Given the description of an element on the screen output the (x, y) to click on. 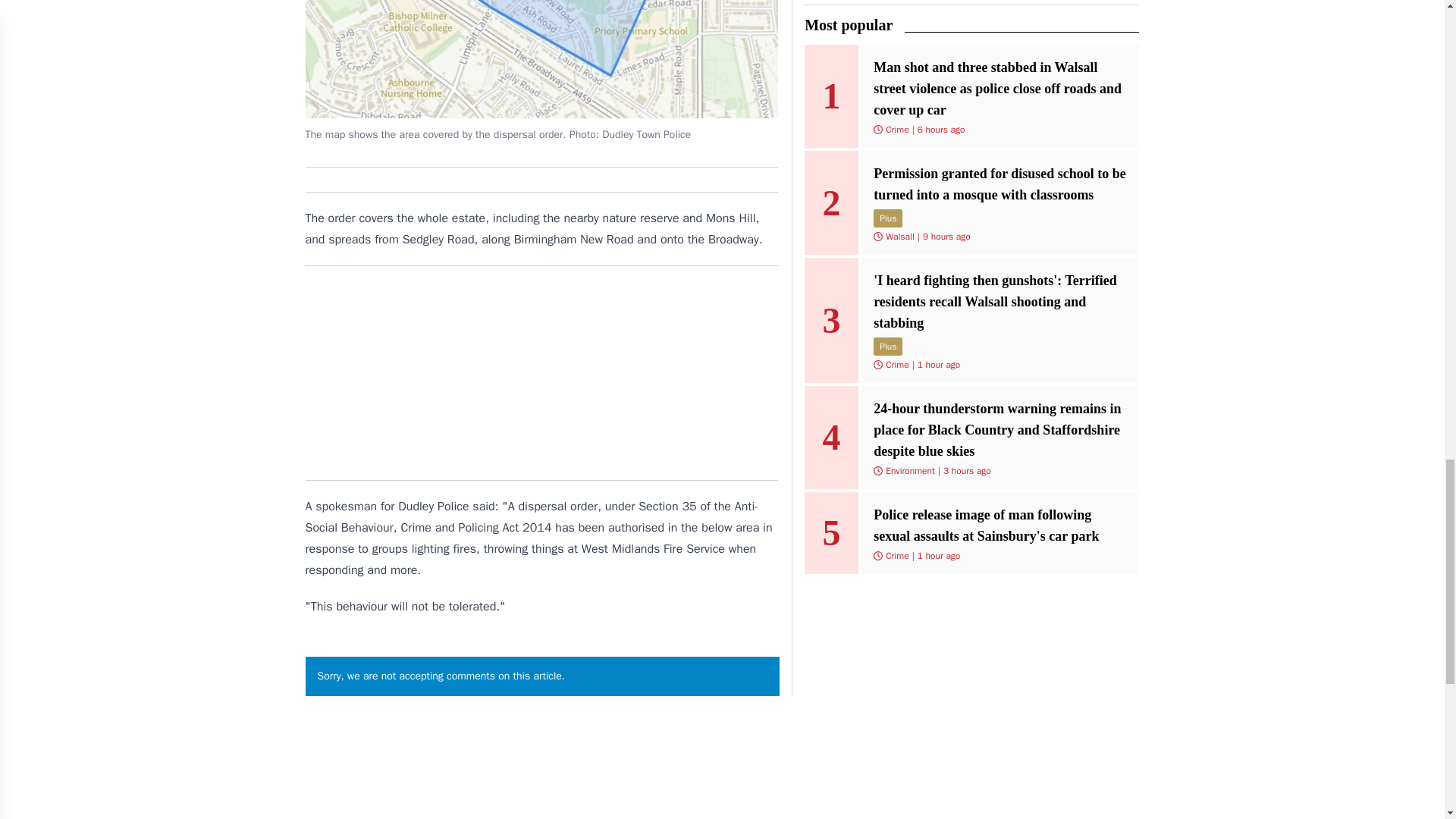
Environment (909, 470)
Walsall (899, 236)
Crime (896, 555)
Crime (896, 364)
Crime (896, 129)
